Given the description of an element on the screen output the (x, y) to click on. 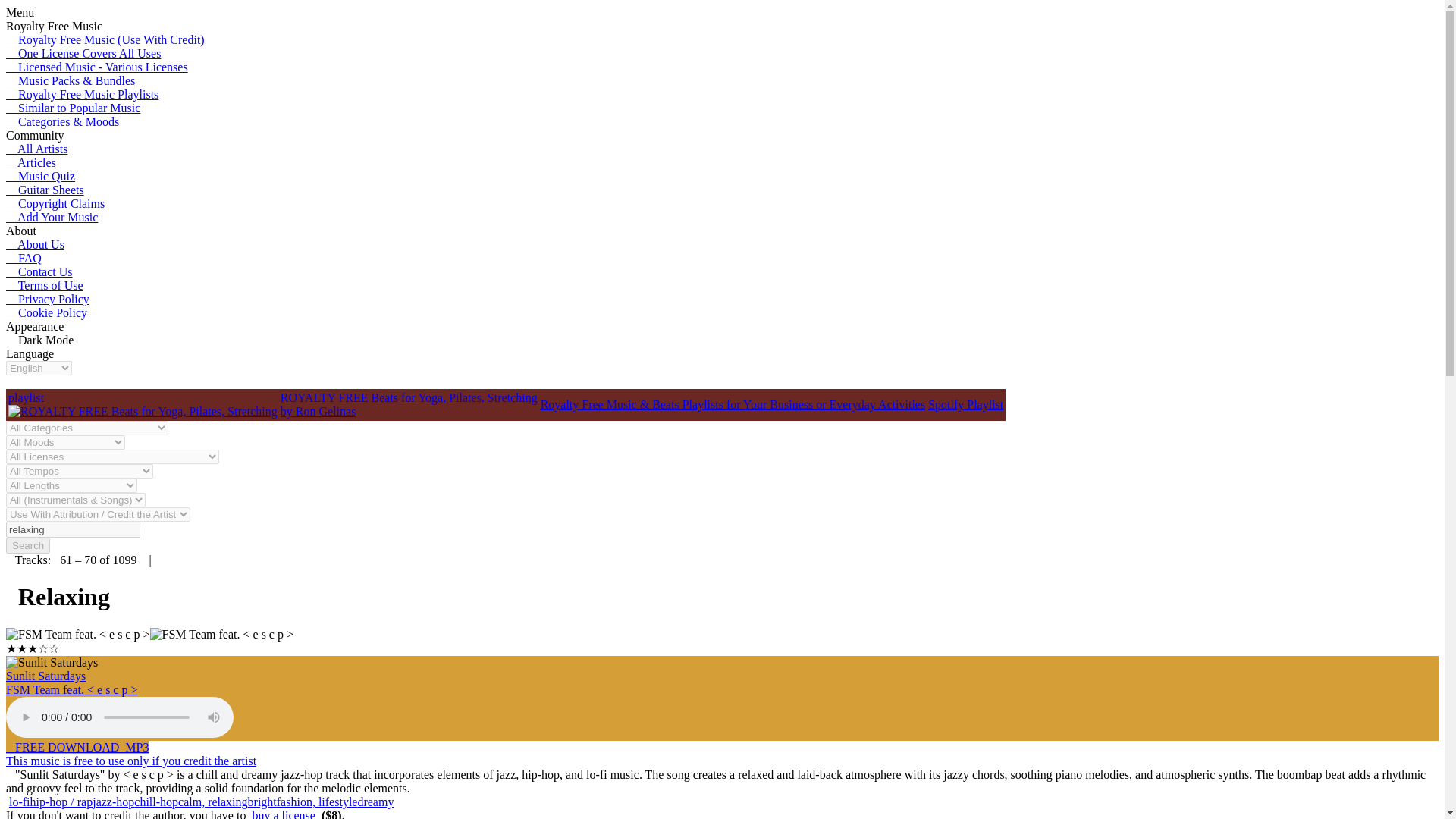
chill-hop (155, 801)
Search (27, 545)
calm, relaxing (212, 801)
fashion, lifestyle (317, 801)
Search (27, 545)
Search (27, 545)
buy a license (283, 814)
lo-fi (19, 801)
bright (261, 801)
dreamy (374, 801)
jazz-hop (113, 801)
relaxing (72, 529)
